Given the description of an element on the screen output the (x, y) to click on. 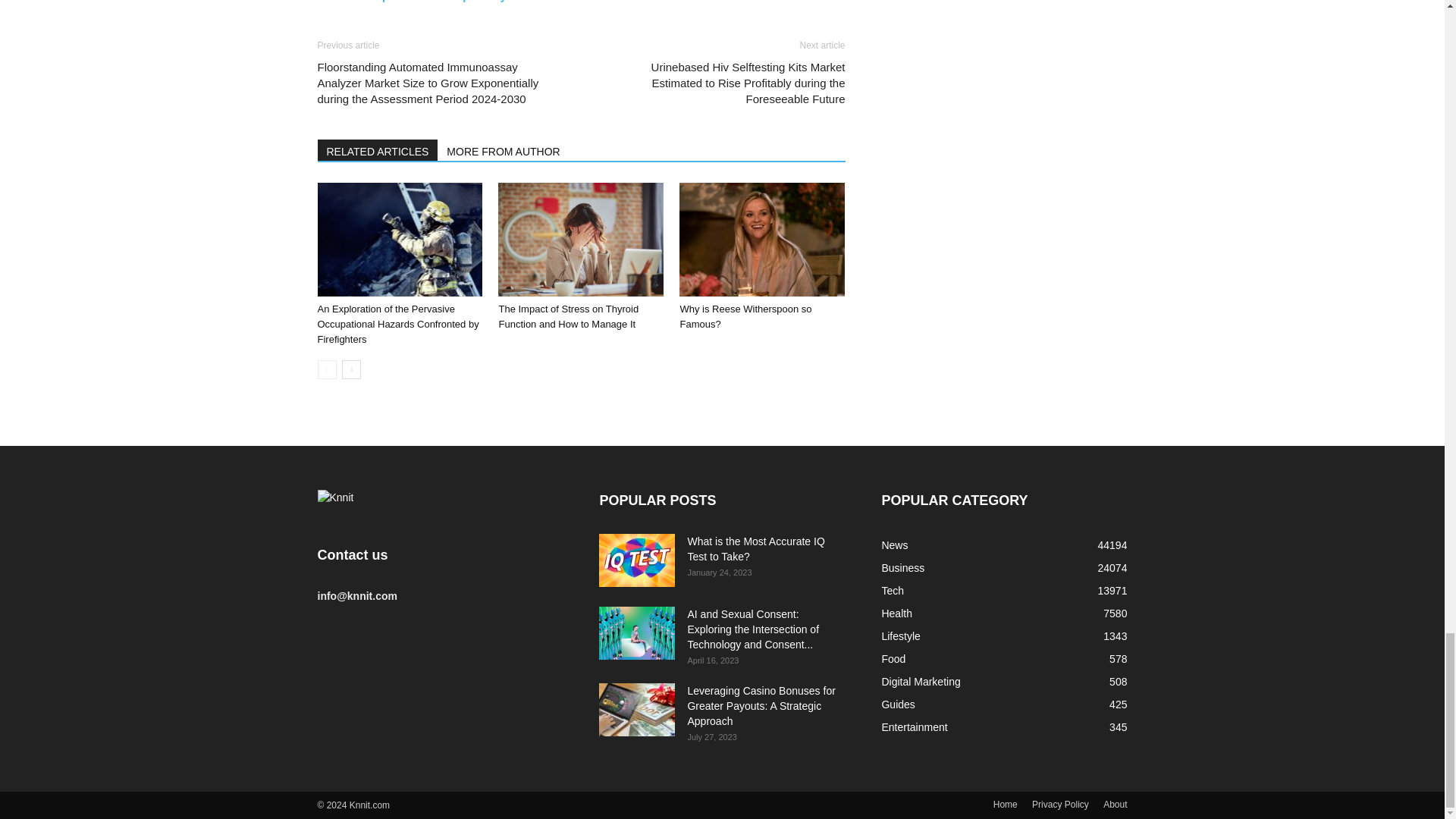
Why is Reese Witherspoon so Famous? (744, 316)
Why is Reese Witherspoon so Famous? (761, 239)
